Given the description of an element on the screen output the (x, y) to click on. 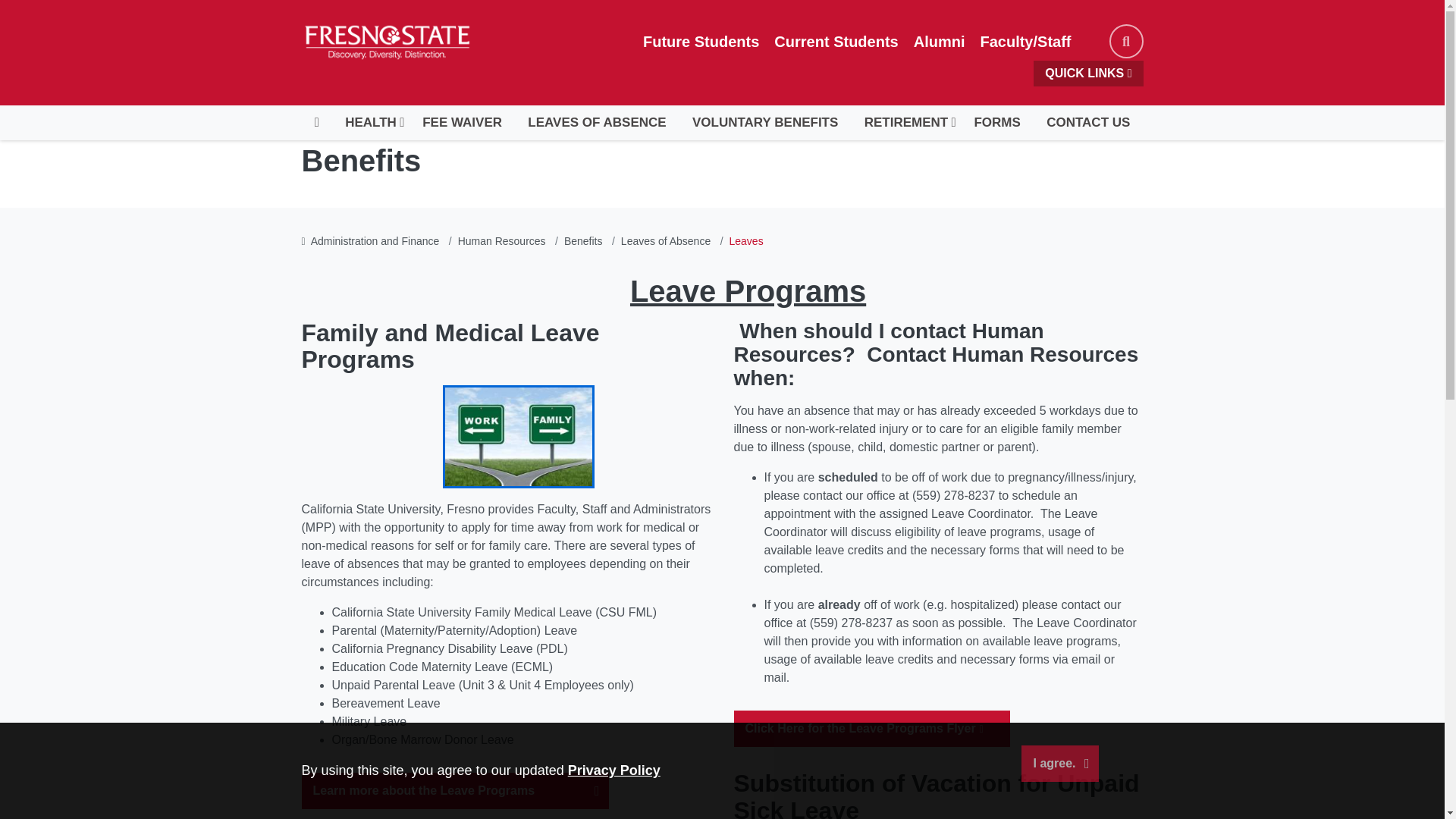
Search (1125, 41)
Quick Links (1087, 73)
FEE WAIVER (462, 122)
HEALTH (370, 122)
HOME (316, 122)
VOLUNTARY BENEFITS (765, 122)
Family - Work (518, 436)
LEAVES OF ABSENCE (597, 122)
Future Students (700, 41)
Current Students (836, 41)
